Given the description of an element on the screen output the (x, y) to click on. 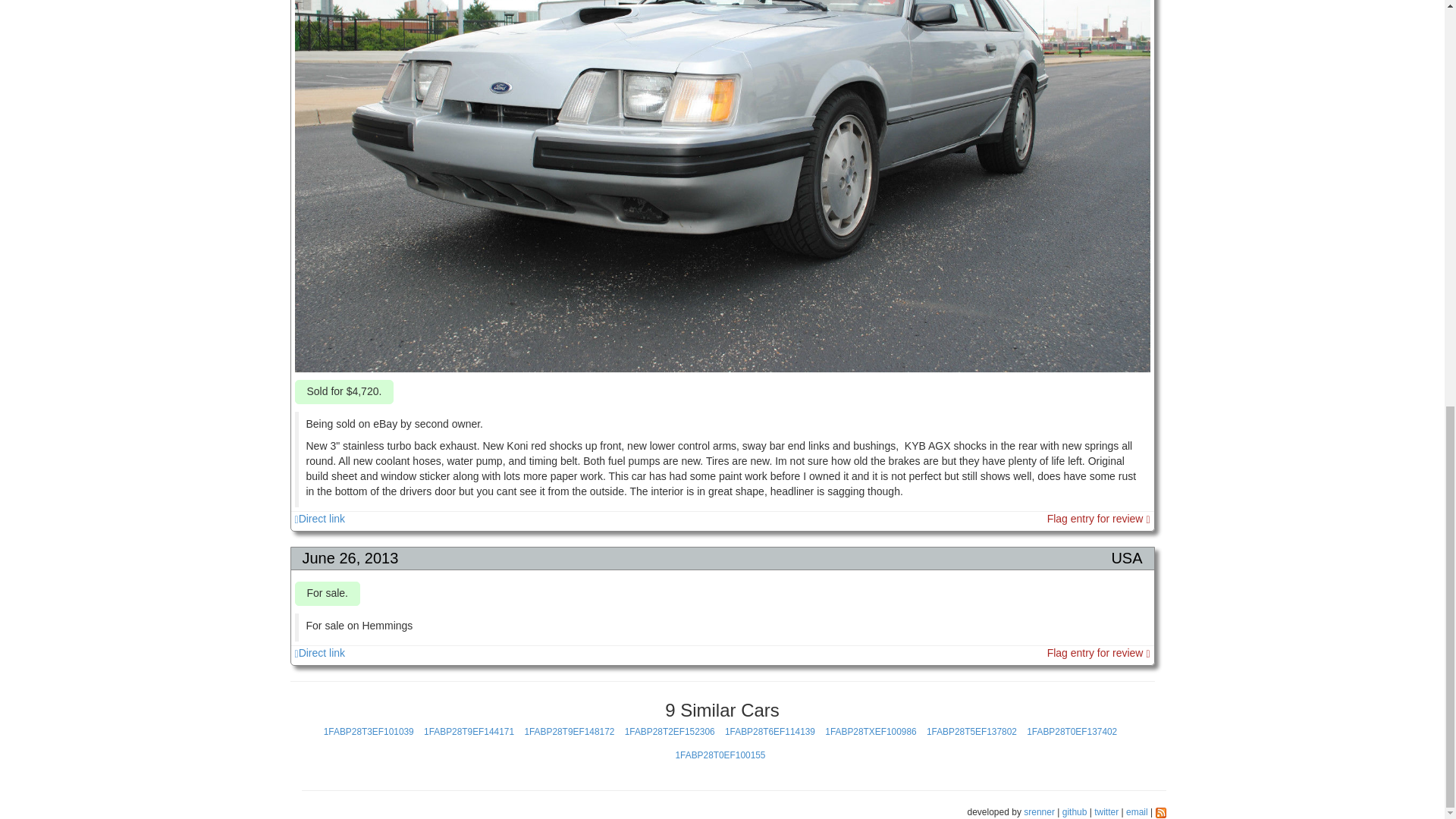
1FABP28T9EF144171 (468, 731)
Direct link (319, 653)
github (1074, 811)
1FABP28T5EF137802 (971, 731)
twitter (1106, 811)
1FABP28T3EF101039 (368, 731)
Flag entry for review (1098, 518)
1FABP28T0EF137402 (1071, 731)
1FABP28T0EF100155 (720, 755)
email (1136, 811)
Direct link (319, 518)
Flag entry for review (1098, 653)
srenner (1038, 811)
1FABP28T6EF114139 (770, 731)
1FABP28TXEF100986 (870, 731)
